Given the description of an element on the screen output the (x, y) to click on. 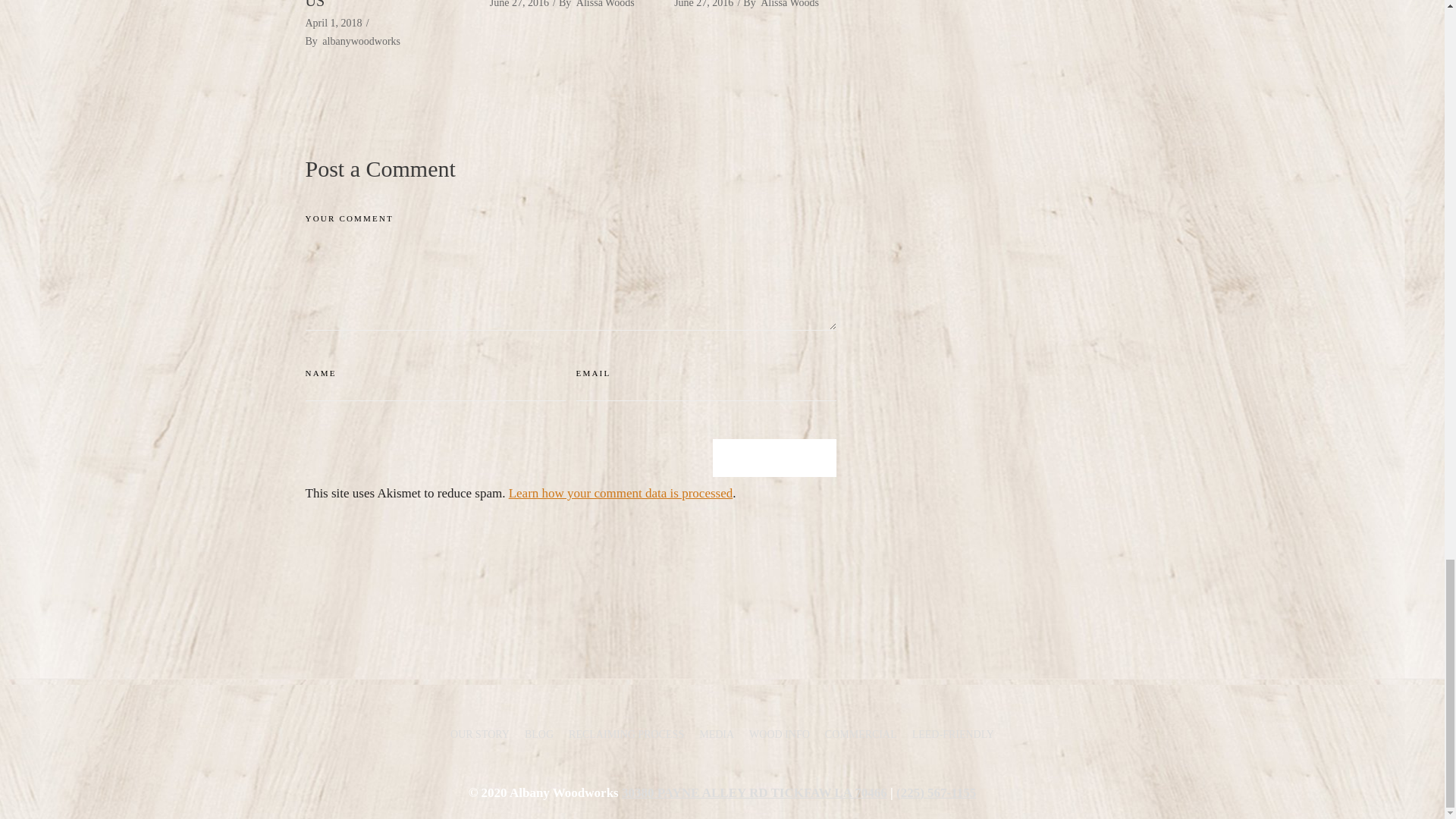
Submit (774, 457)
Building One Of The First Sustainable Homes In The US (384, 4)
